Given the description of an element on the screen output the (x, y) to click on. 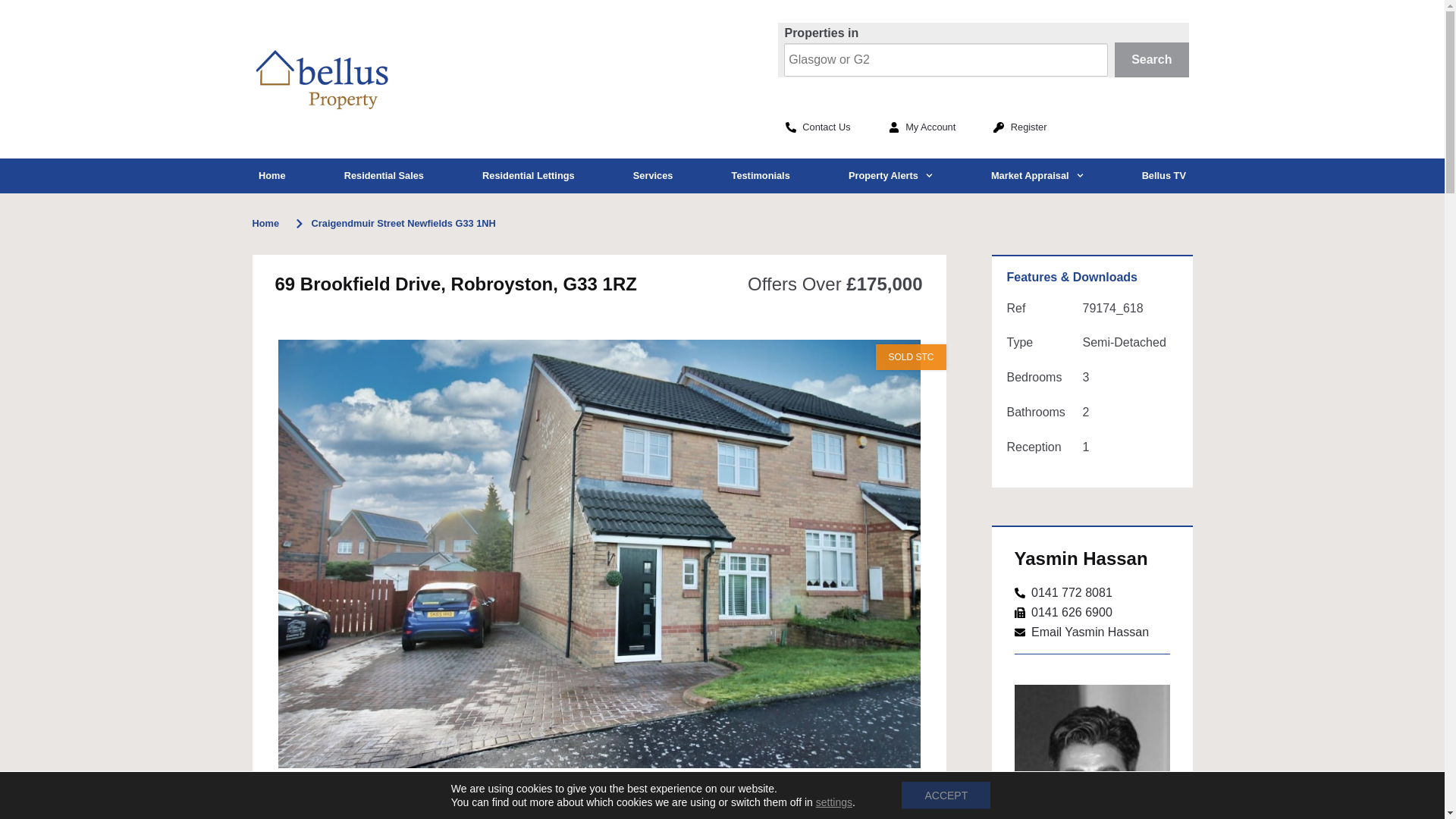
Property Alerts (889, 175)
Search (1152, 59)
Services (652, 175)
Market Appraisal (1036, 175)
Residential Lettings (528, 175)
Contact Us (818, 127)
Search (1152, 59)
Residential Sales (383, 175)
Register (1019, 127)
Bellus TV (1163, 175)
Home (271, 175)
Testimonials (759, 175)
My Account (922, 127)
